Given the description of an element on the screen output the (x, y) to click on. 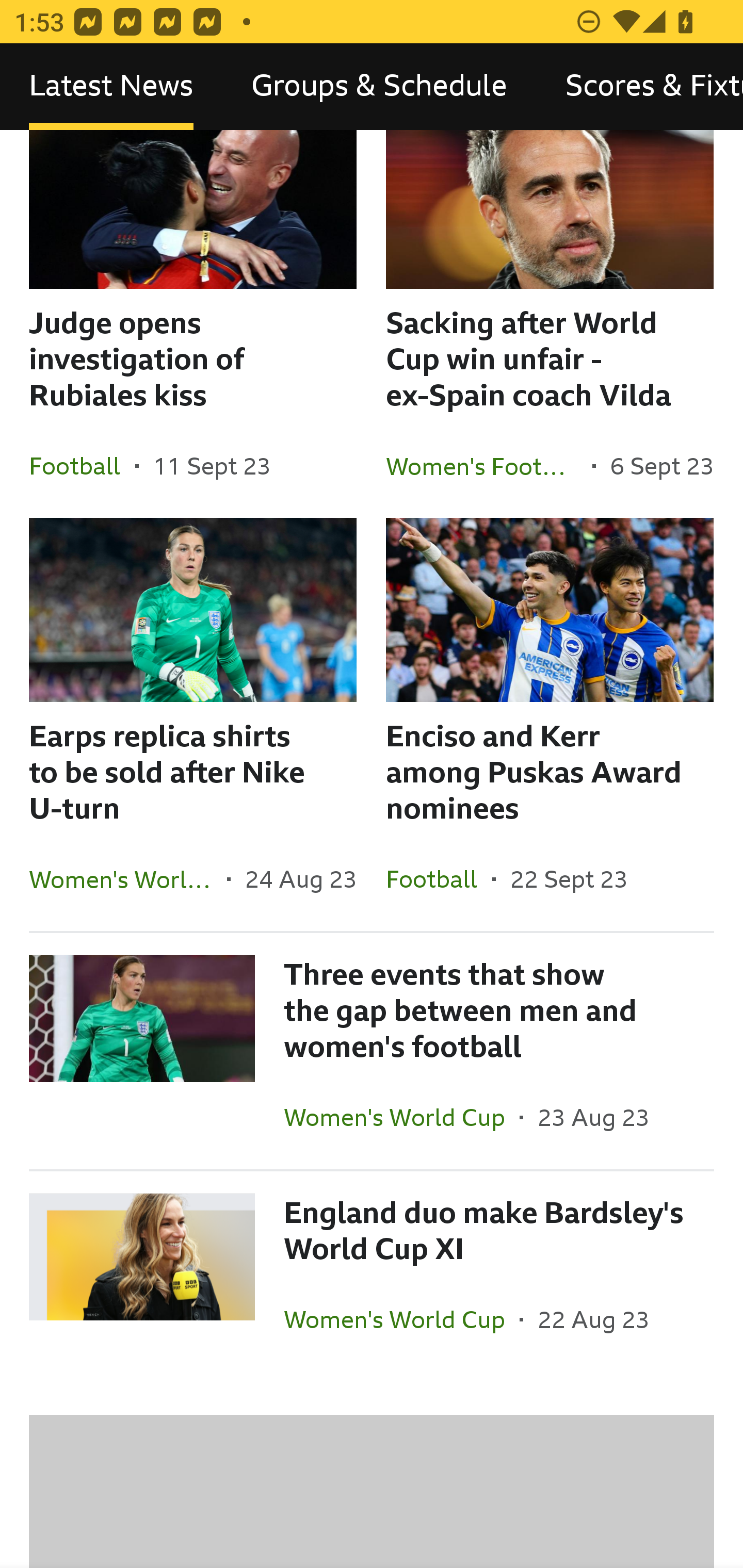
Latest News, selected Latest News (111, 86)
Groups & Schedule (379, 86)
Scores & Fixtures (639, 86)
Football In the section Football (81, 465)
Women's Football In the section Women's Football (488, 465)
Football In the section Football (438, 878)
